Given the description of an element on the screen output the (x, y) to click on. 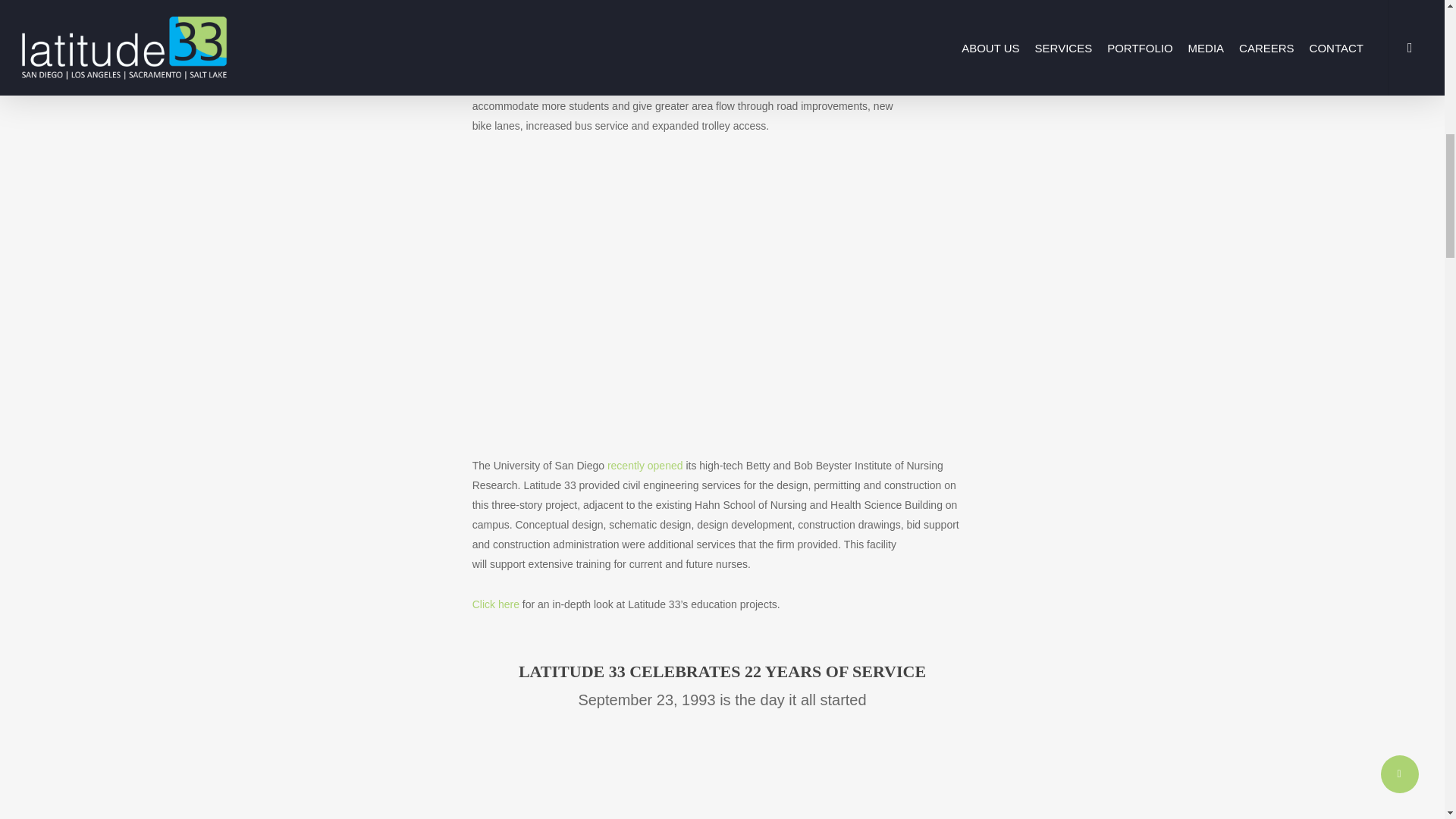
recently opened (644, 465)
major campus expansion (836, 86)
Click here (495, 604)
